Given the description of an element on the screen output the (x, y) to click on. 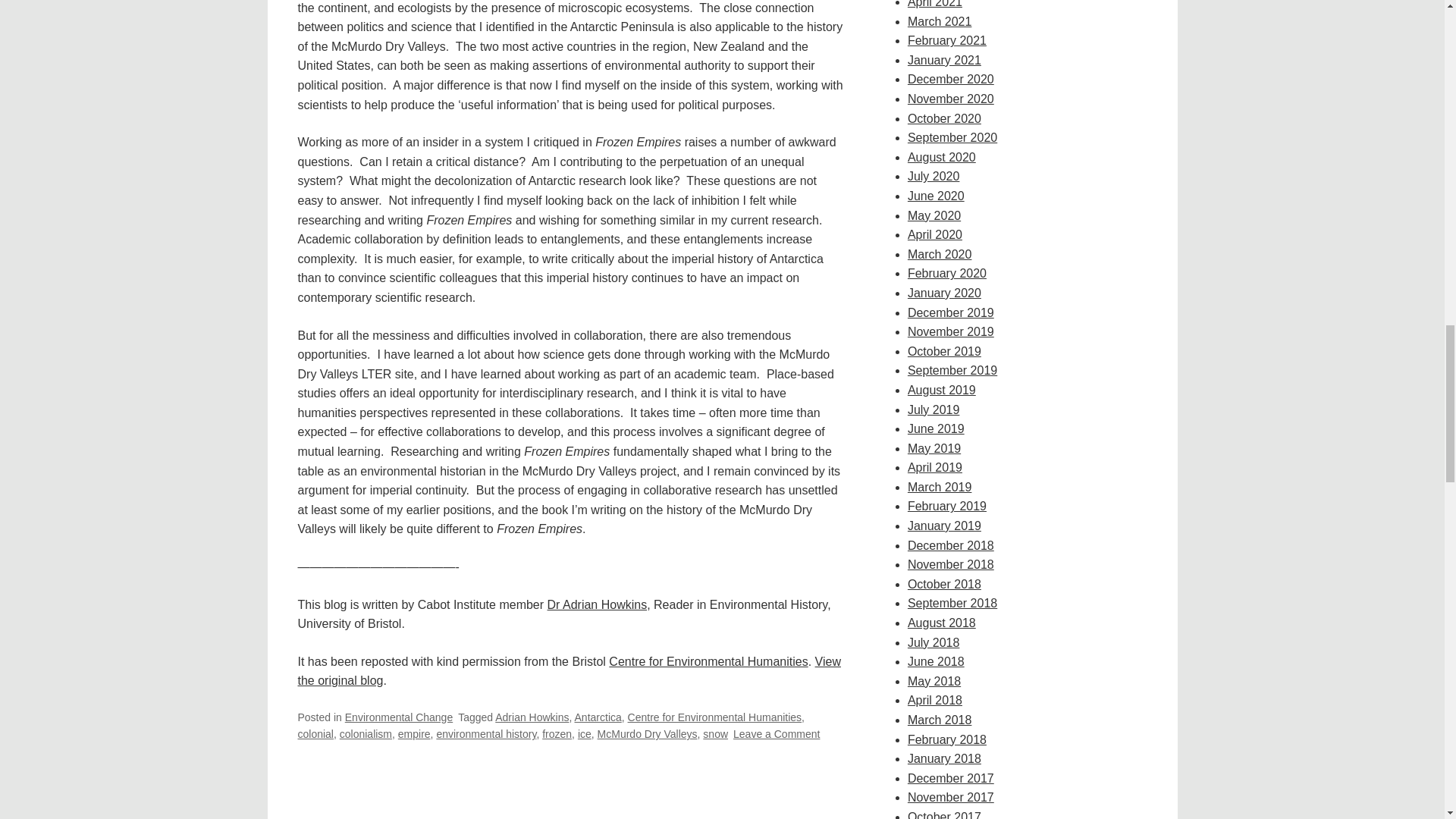
McMurdo Dry Valleys (646, 734)
Antarctica (598, 717)
colonialism (365, 734)
frozen (556, 734)
Dr Adrian Howkins (597, 604)
Environmental Change (398, 717)
Centre for Environmental Humanities (714, 717)
empire (413, 734)
ice (584, 734)
Centre for Environmental Humanities (776, 734)
Adrian Howkins (708, 661)
View the original blog (532, 717)
snow (568, 671)
colonial (715, 734)
